Given the description of an element on the screen output the (x, y) to click on. 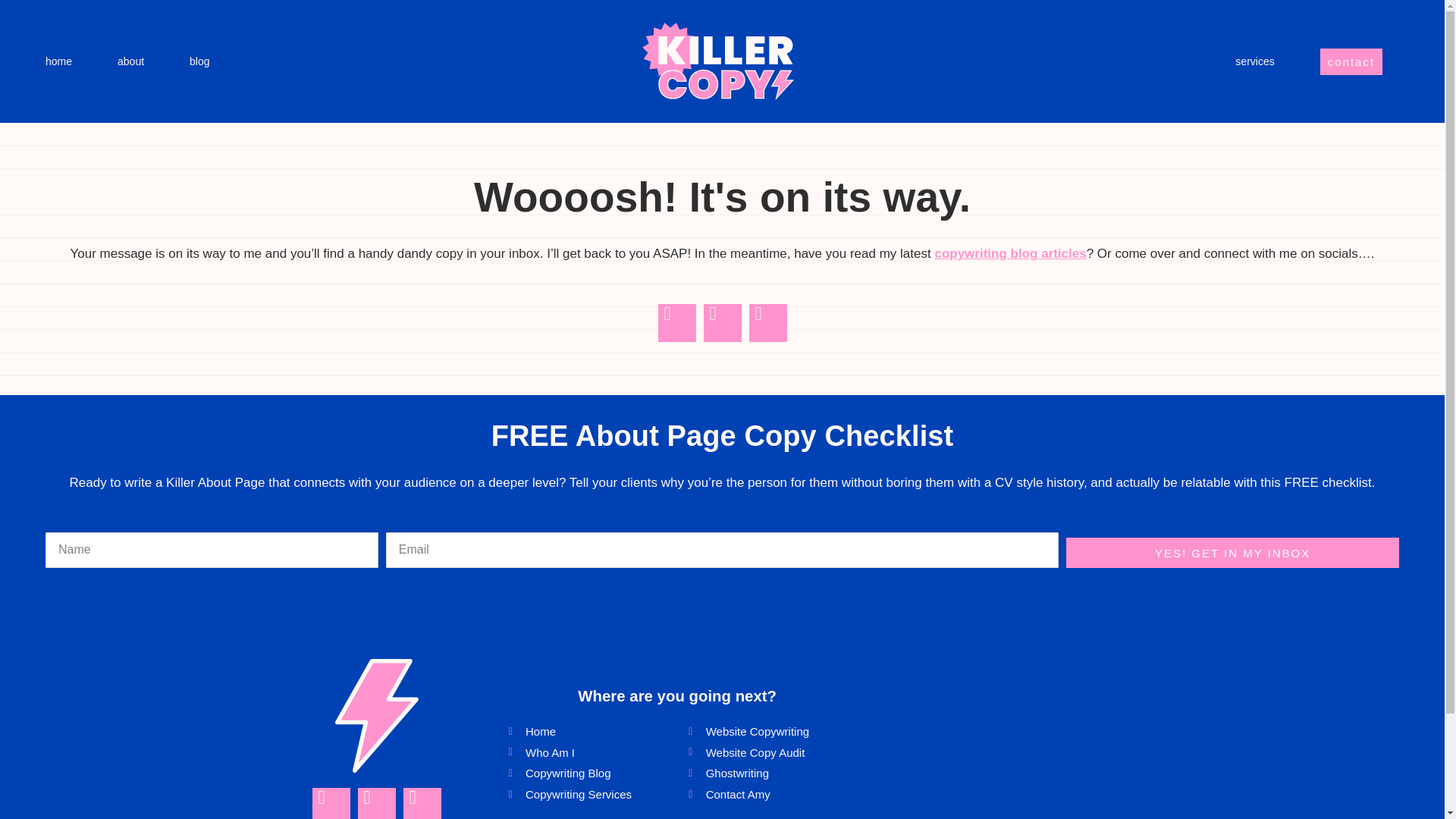
Facebook (676, 322)
contact (1350, 61)
blog (199, 61)
home (58, 61)
about (130, 61)
copywriting blog articles (1010, 253)
services (1254, 61)
